Given the description of an element on the screen output the (x, y) to click on. 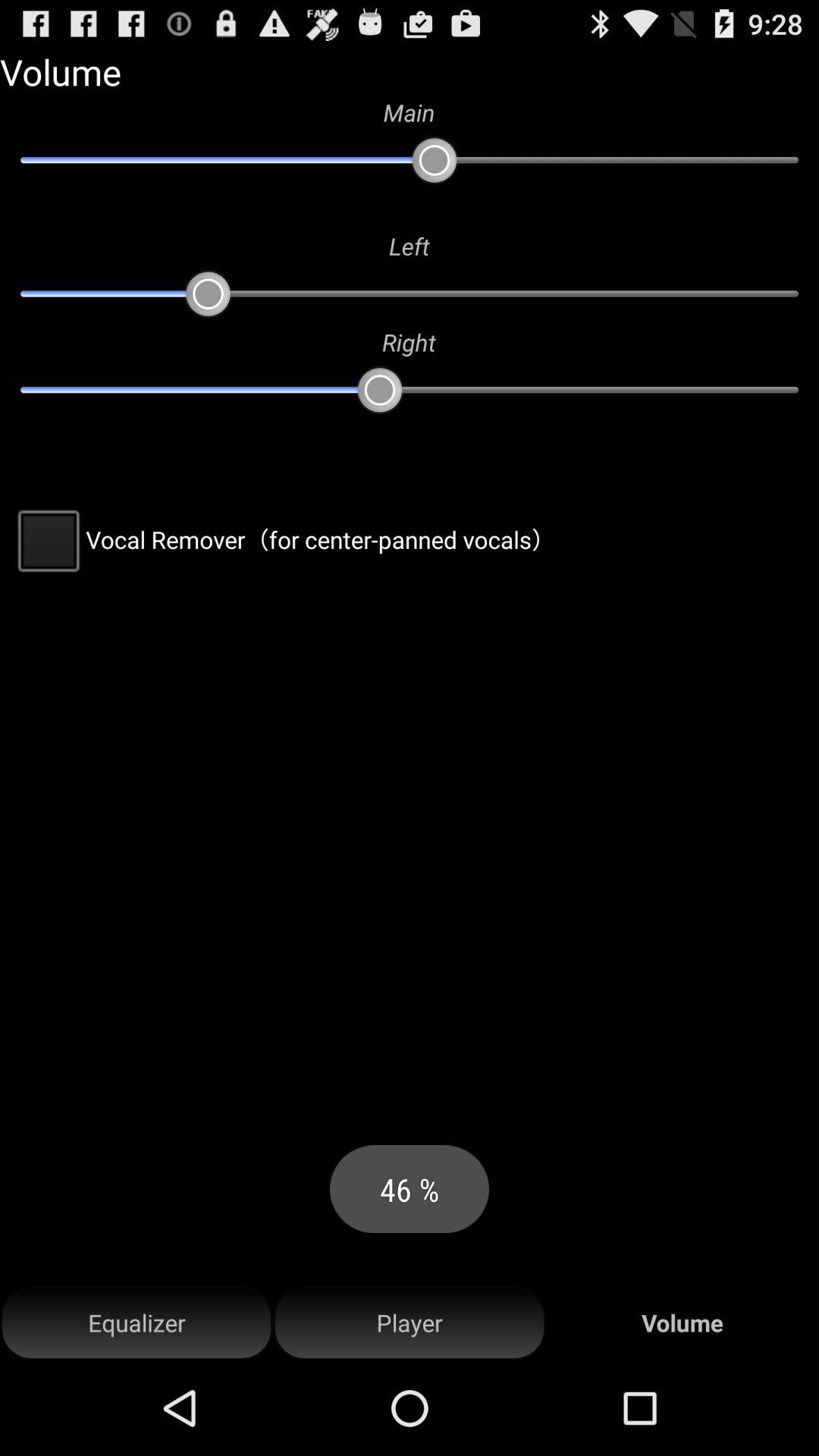
choose button next to the player button (136, 1323)
